Given the description of an element on the screen output the (x, y) to click on. 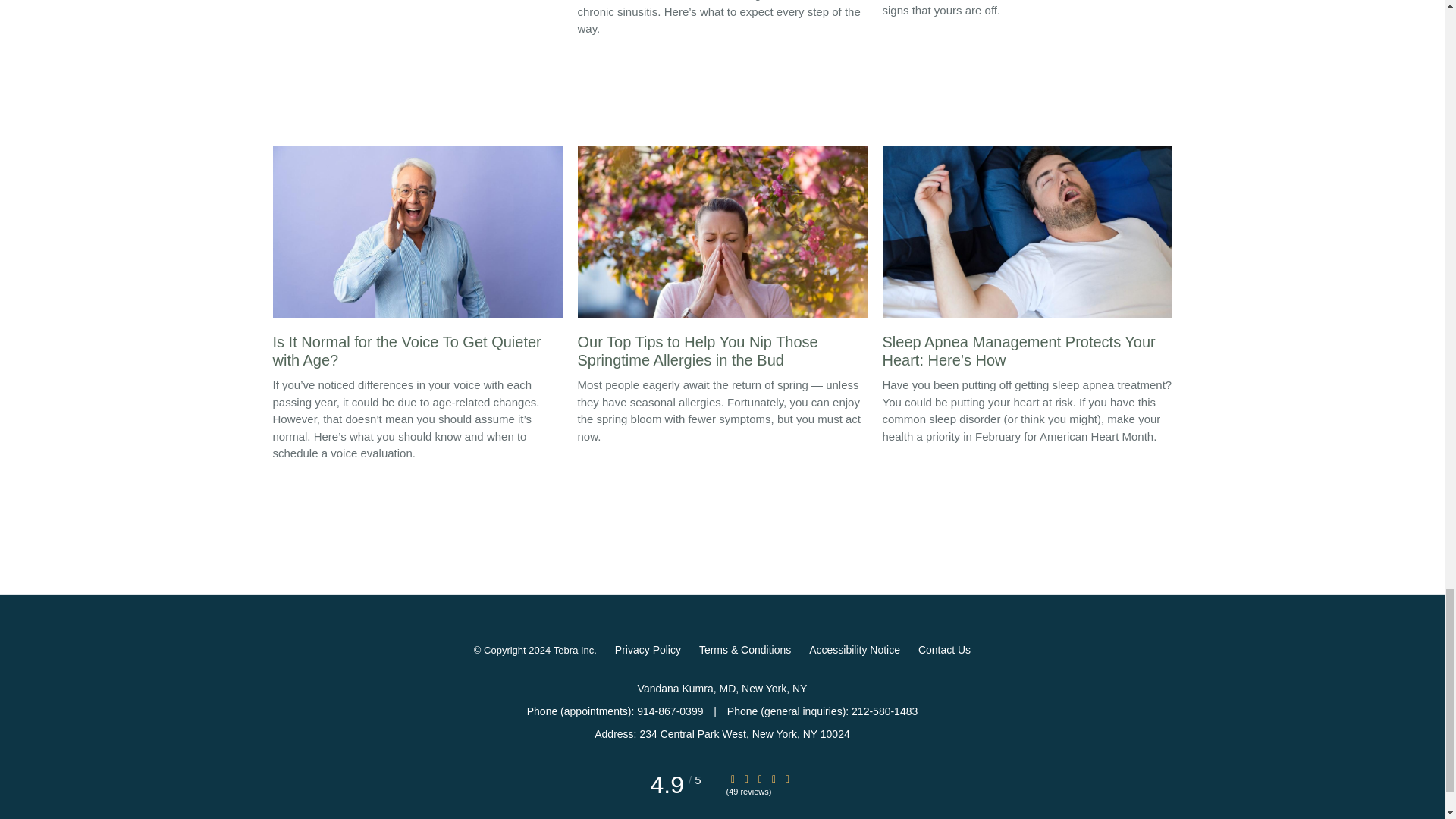
Star Rating (746, 778)
Star Rating (773, 778)
Star Rating (733, 778)
Star Rating (760, 778)
Is It Normal for the Voice To Get Quieter with Age? (417, 261)
Tebra Inc (573, 650)
Star Rating (788, 778)
